Given the description of an element on the screen output the (x, y) to click on. 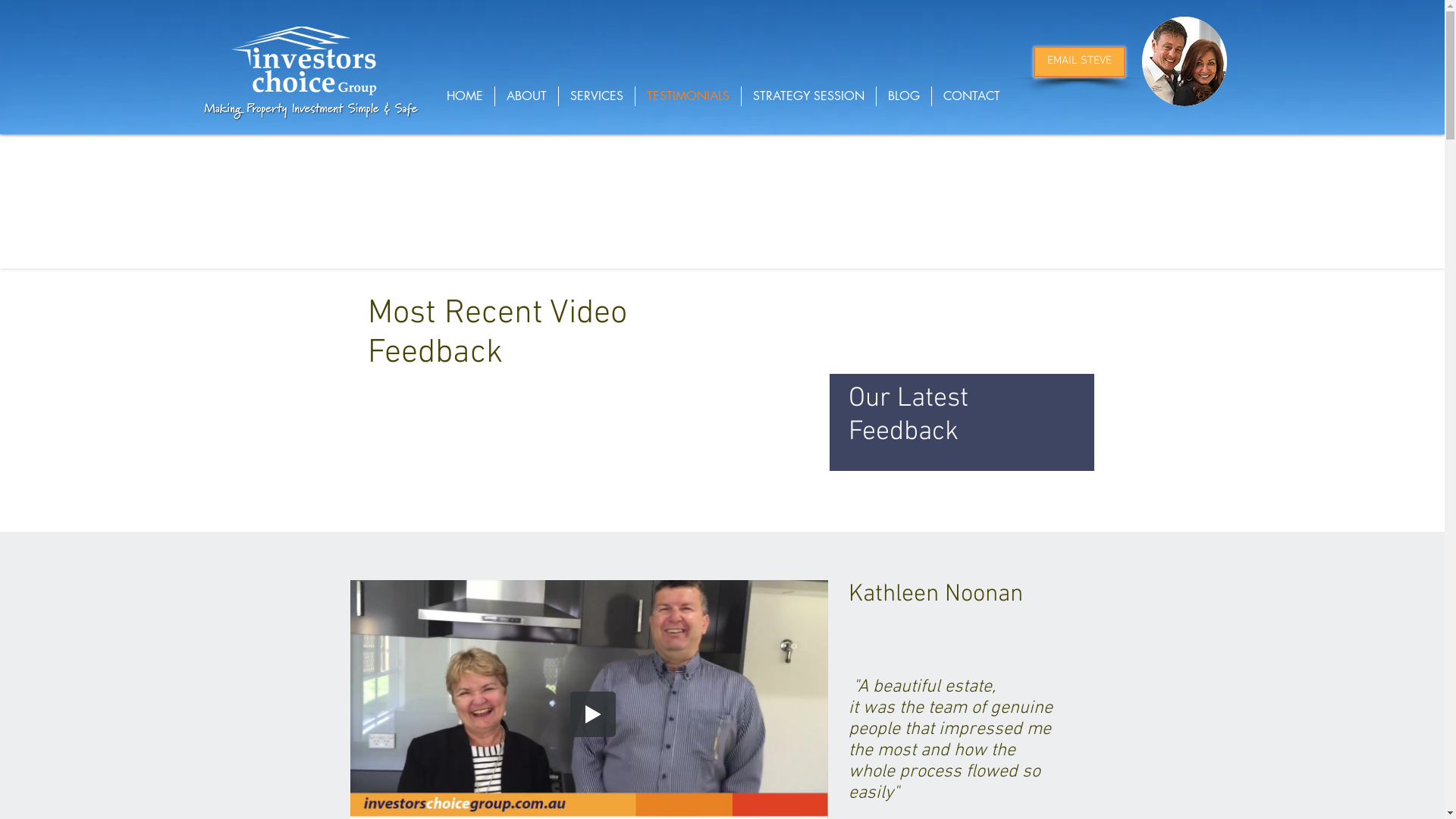
CONTACT Element type: text (970, 96)
EMAIL STEVE Element type: text (1078, 61)
HOME Element type: text (464, 96)
ABOUT Element type: text (525, 96)
STRATEGY SESSION Element type: text (808, 96)
logo_header_3.jpg Element type: hover (303, 61)
SERVICES Element type: text (595, 96)
TESTIMONIALS Element type: text (687, 96)
BLOG Element type: text (903, 96)
